Given the description of an element on the screen output the (x, y) to click on. 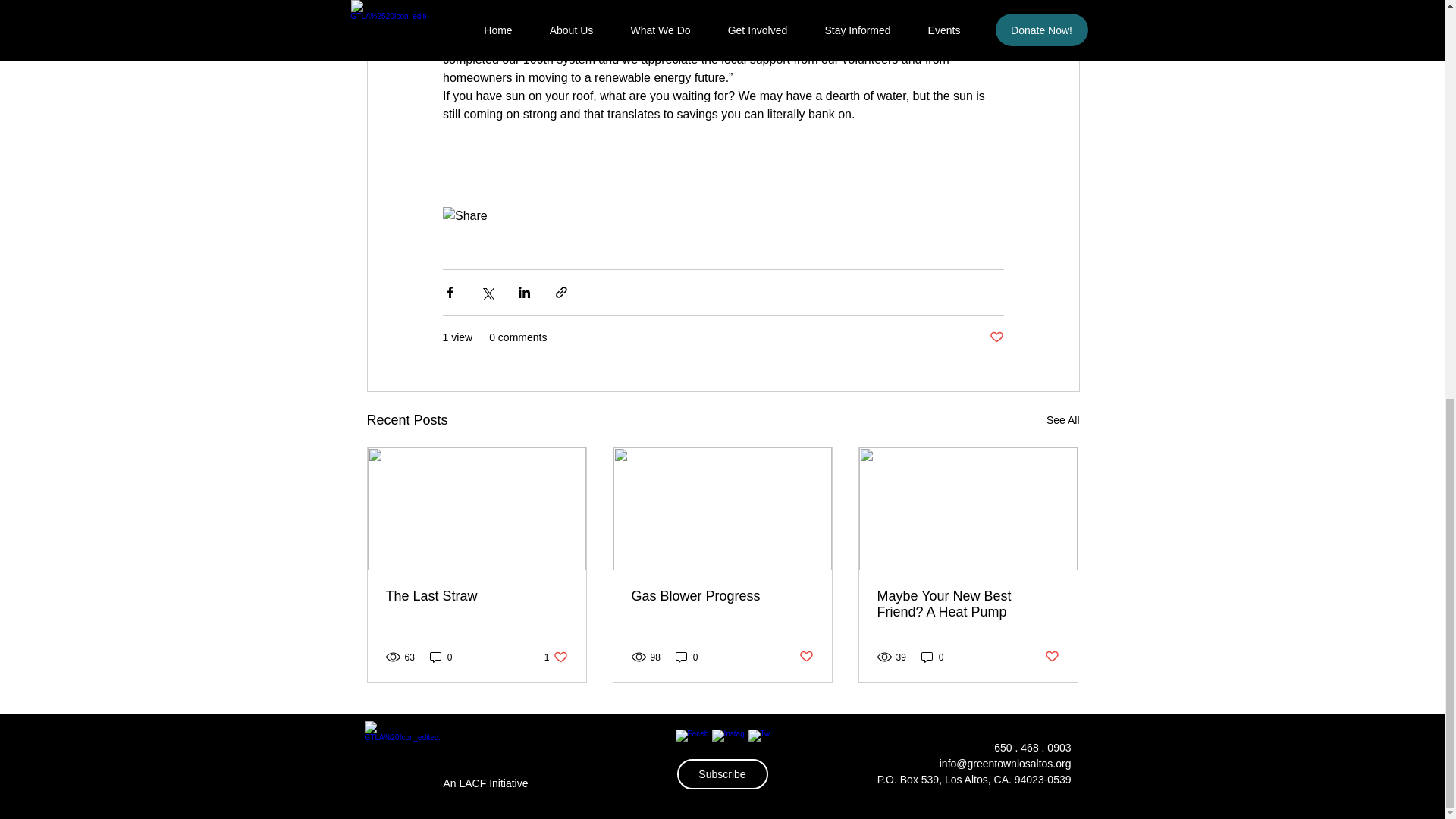
0 (932, 657)
0 (687, 657)
0 (441, 657)
See All (1063, 420)
Gas Blower Progress (555, 657)
Post not marked as liked (721, 596)
Post not marked as liked (995, 337)
Maybe Your New Best Friend? A Heat Pump (806, 657)
The Last Straw (967, 603)
